Given the description of an element on the screen output the (x, y) to click on. 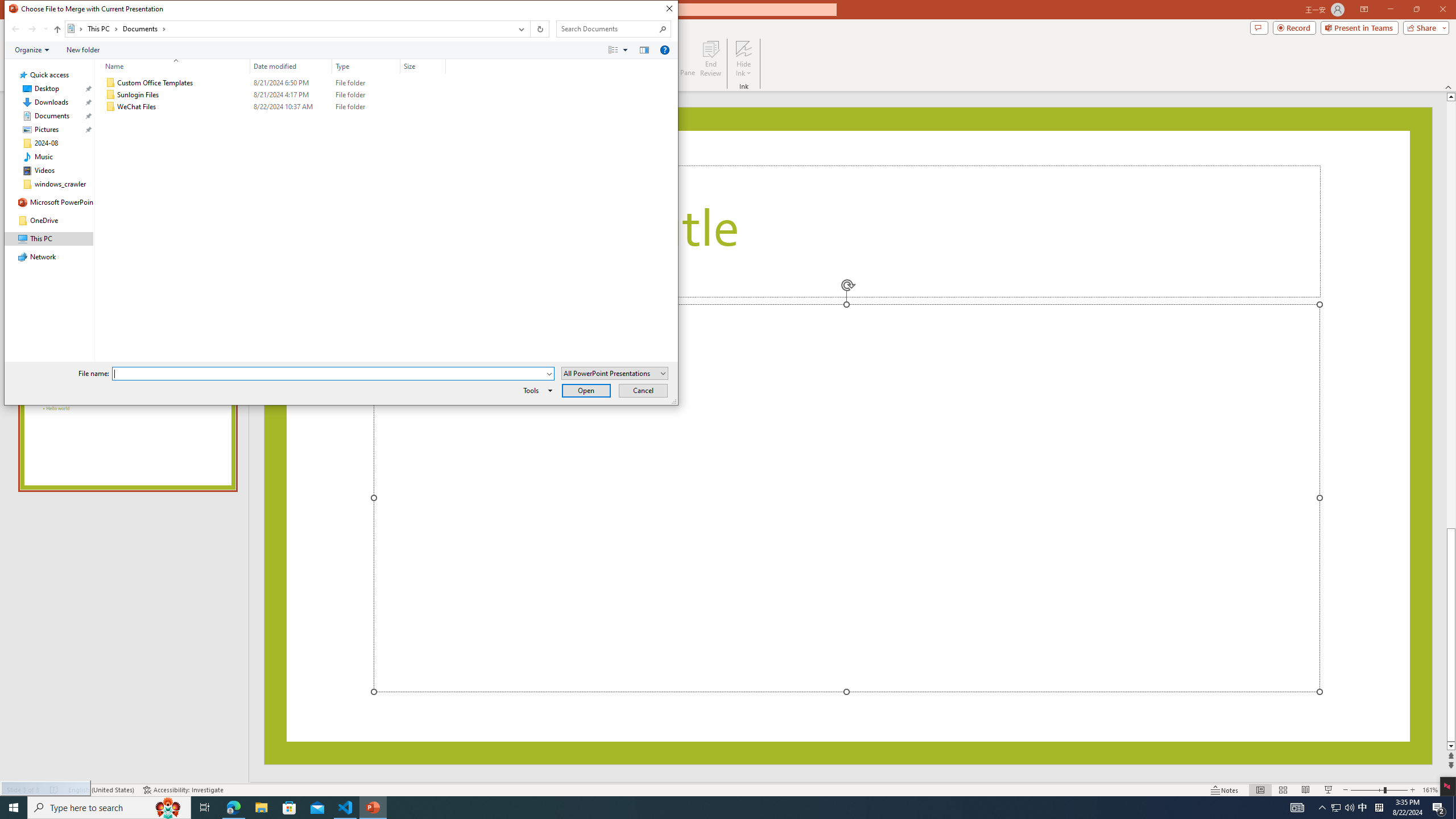
Hide Ink (743, 58)
Tray Input Indicator - Chinese (Simplified, China) (1378, 807)
File Explorer (261, 807)
Sunlogin Files (273, 94)
Command Module (341, 49)
Address: Documents (288, 28)
Preview pane (644, 49)
Tools (535, 390)
AutomationID: 4105 (1297, 807)
Type (365, 106)
Notes  (1225, 790)
User Promoted Notification Area (1342, 807)
